Given the description of an element on the screen output the (x, y) to click on. 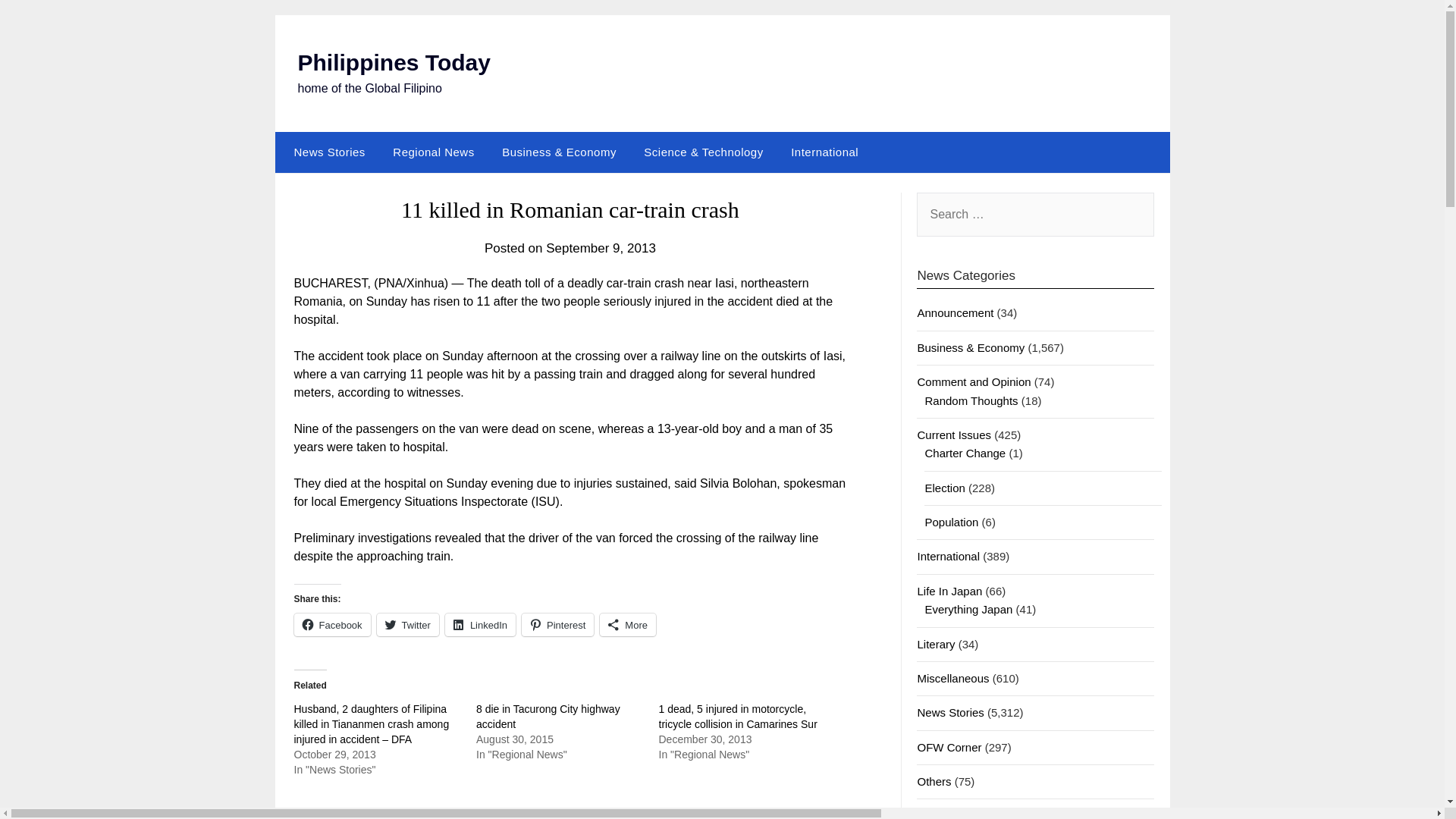
Search (38, 22)
International (948, 555)
8 die in Tacurong City highway accident (548, 716)
Current Issues (954, 434)
Click to share on Facebook (332, 624)
Population (951, 521)
Click to share on Pinterest (557, 624)
Regional News (433, 151)
OFW Corner (949, 747)
LinkedIn (480, 624)
8 die in Tacurong City highway accident (548, 716)
News Stories (950, 712)
News Stories (326, 151)
Life In Japan (949, 590)
